Given the description of an element on the screen output the (x, y) to click on. 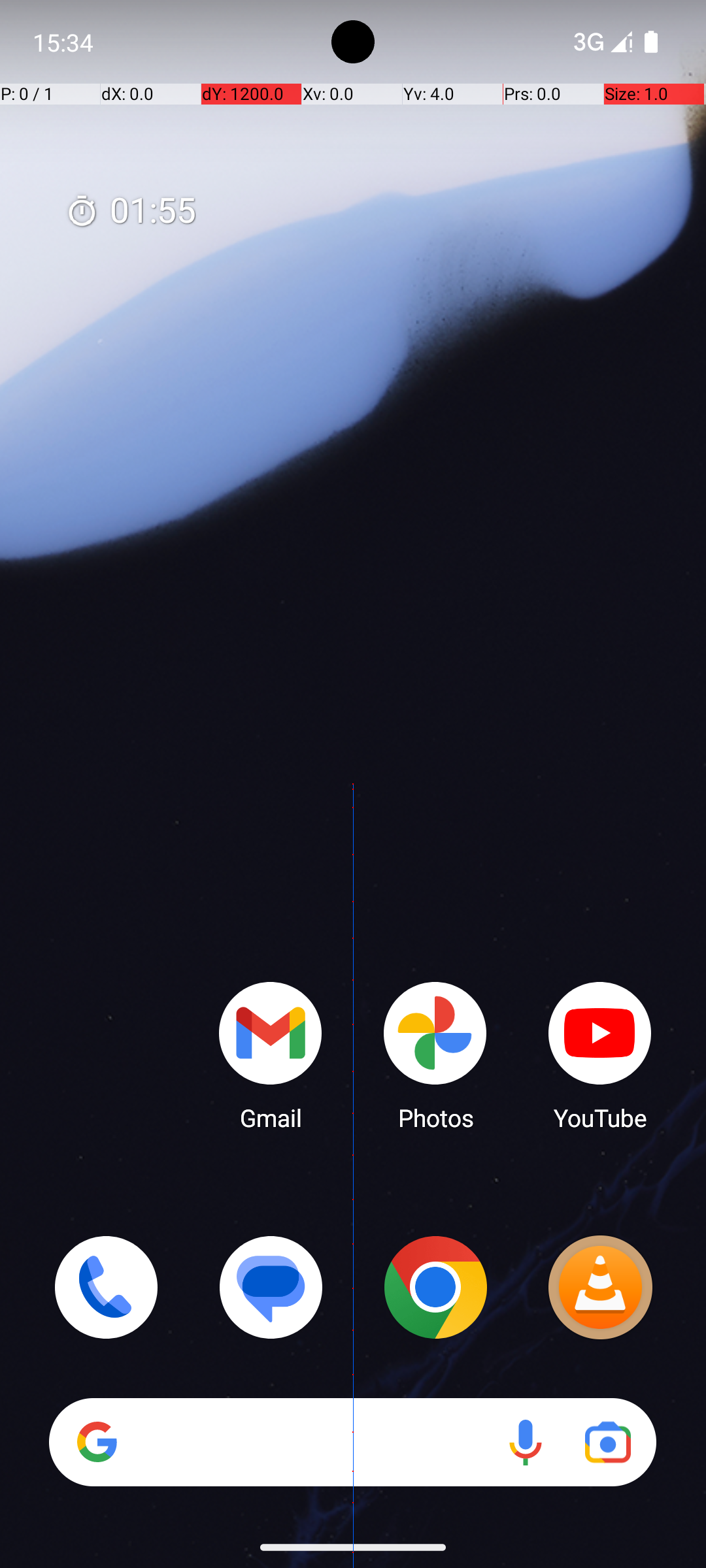
Home Element type: android.view.View (353, 804)
Phone Element type: android.widget.TextView (105, 1287)
Messages Element type: android.widget.TextView (270, 1287)
Chrome Element type: android.widget.TextView (435, 1287)
VLC Element type: android.widget.TextView (599, 1287)
Search Element type: android.widget.FrameLayout (352, 1442)
01:55 Element type: android.widget.TextView (130, 210)
Gmail Element type: android.widget.TextView (270, 1054)
Photos Element type: android.widget.TextView (435, 1054)
YouTube Element type: android.widget.TextView (599, 1054)
Google app Element type: android.widget.ImageView (97, 1441)
Voice search Element type: android.widget.ImageView (525, 1442)
Google Lens Element type: android.widget.ImageButton (607, 1442)
